Given the description of an element on the screen output the (x, y) to click on. 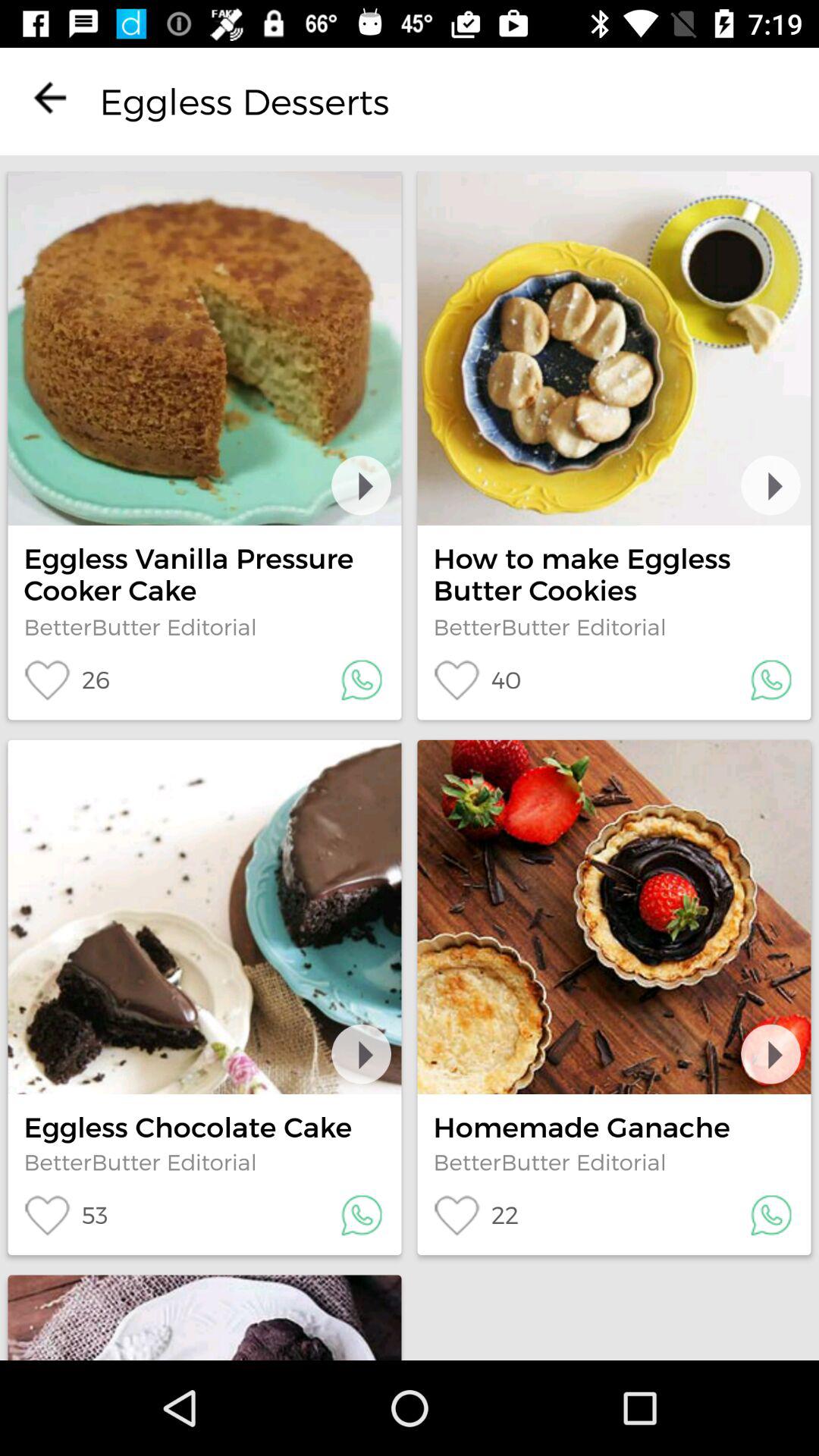
tap icon below the betterbutter editorial icon (475, 1215)
